Given the description of an element on the screen output the (x, y) to click on. 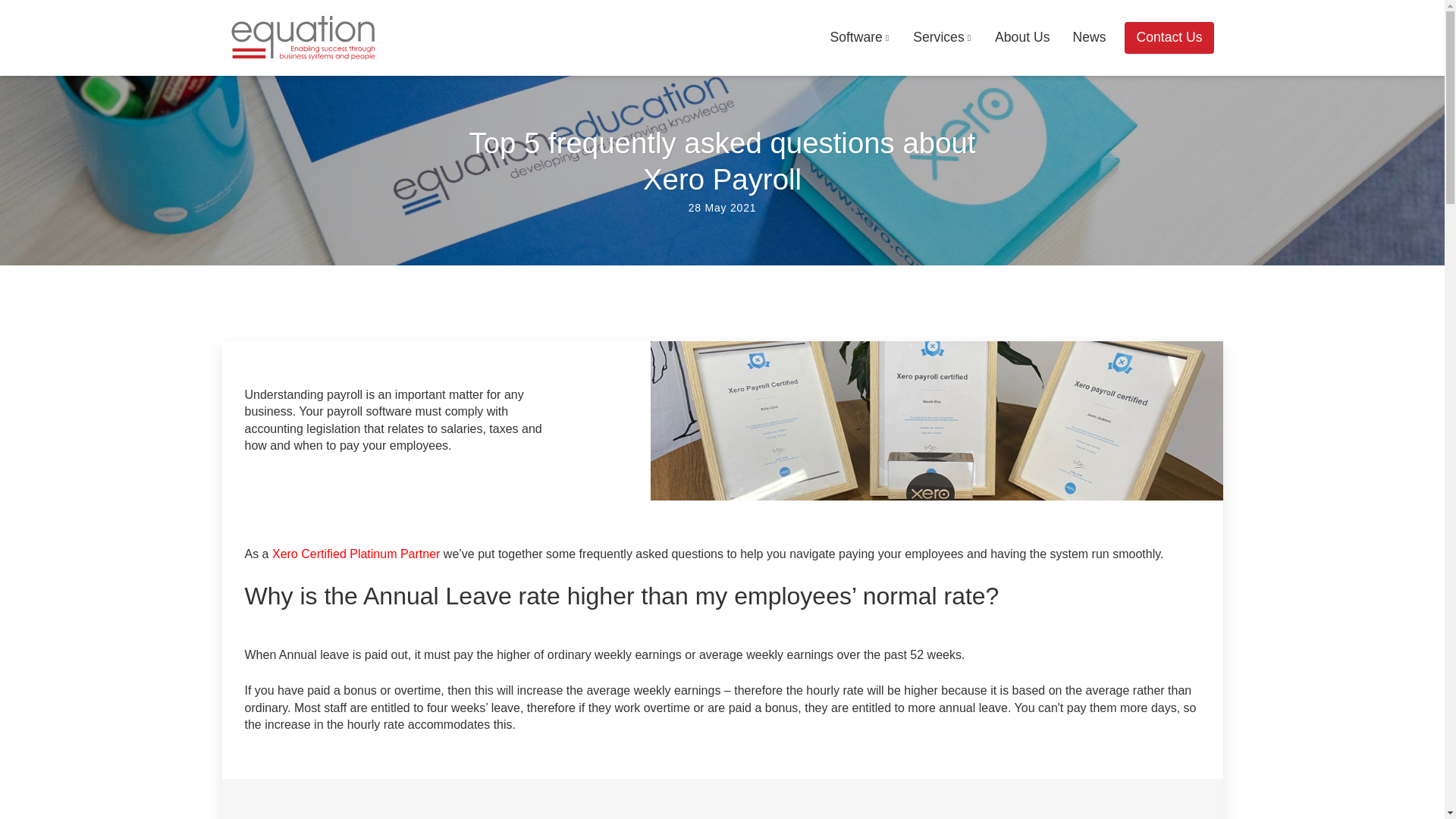
Contact Us (1168, 38)
Software (859, 38)
News (1088, 38)
Contact Us (1168, 38)
Xero Certified Platinum Partne (353, 553)
Services (942, 38)
About Us (1022, 38)
